Given the description of an element on the screen output the (x, y) to click on. 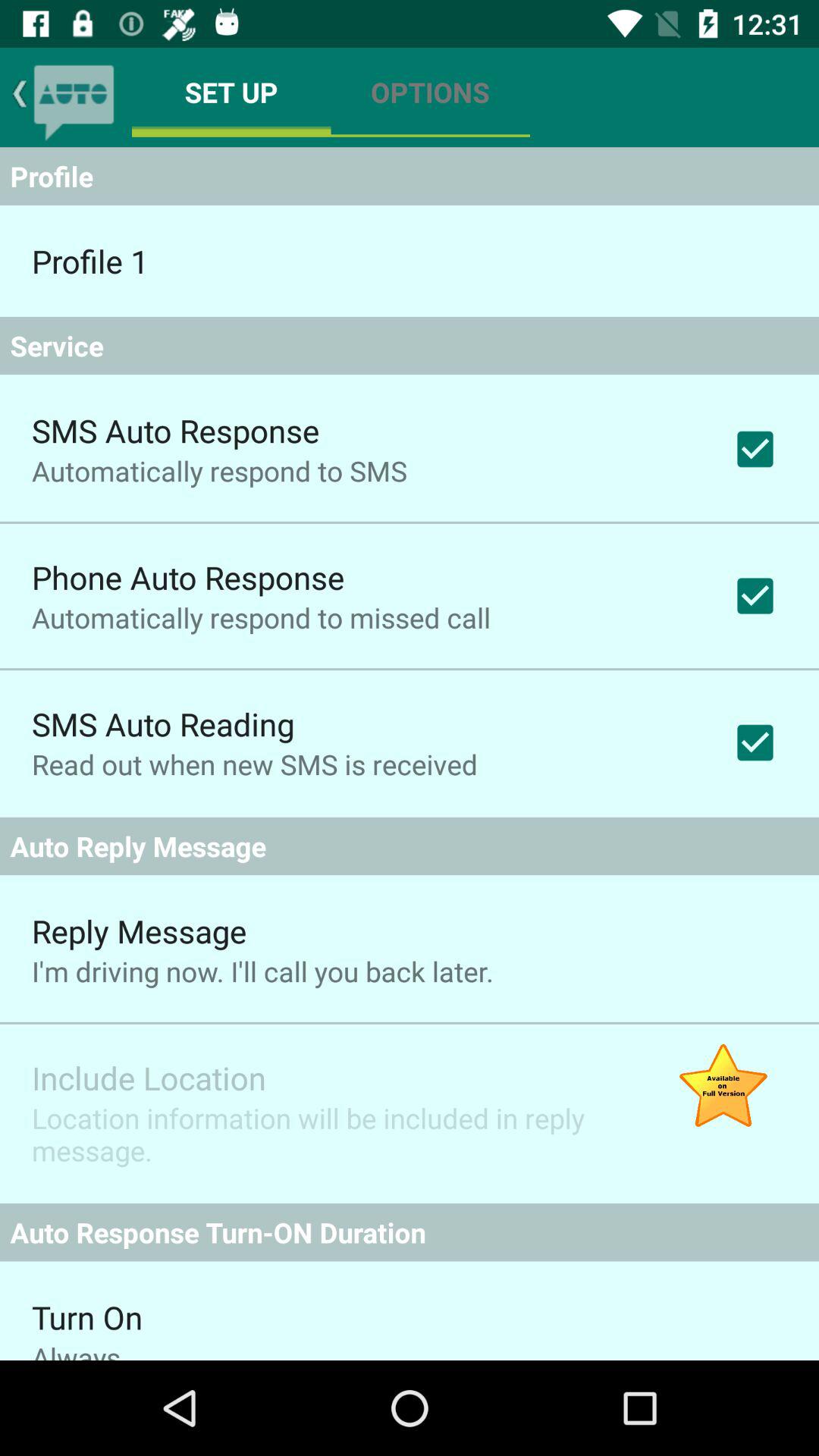
choose the profile 1 (89, 260)
